Given the description of an element on the screen output the (x, y) to click on. 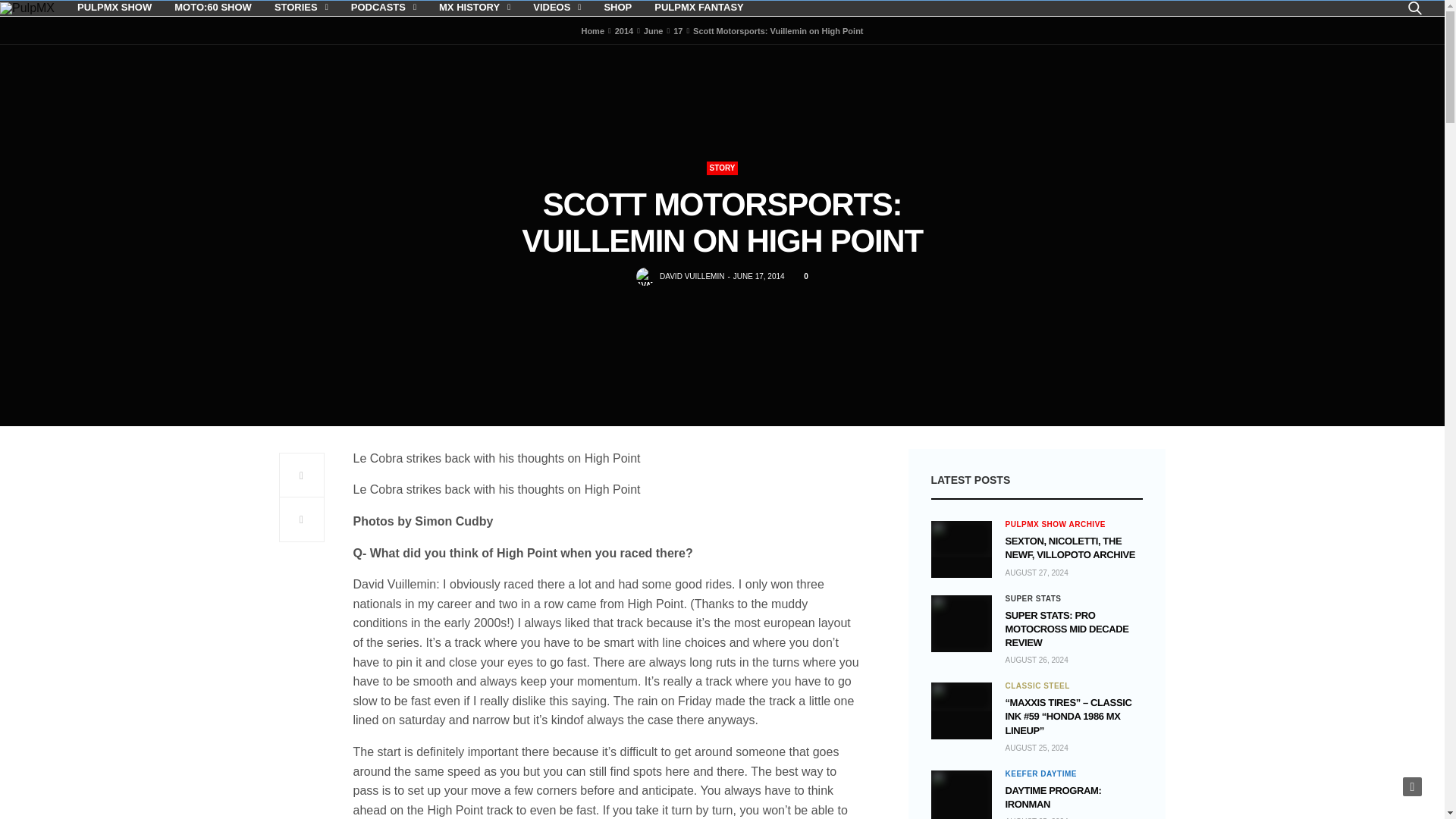
Sexton, Nicoletti, The NEWF, Villopoto Archive (1070, 547)
Super Stats: Pro Motocross Mid Decade Review (961, 623)
STORIES (302, 7)
Super Stats (1033, 598)
Posts by David Vuillemin (691, 276)
Scott Motorsports: Vuillemin on High Point (800, 275)
Story (722, 168)
PODCASTS (383, 7)
Classic Steel (1038, 686)
PulpMX Show Archive (1055, 524)
